Given the description of an element on the screen output the (x, y) to click on. 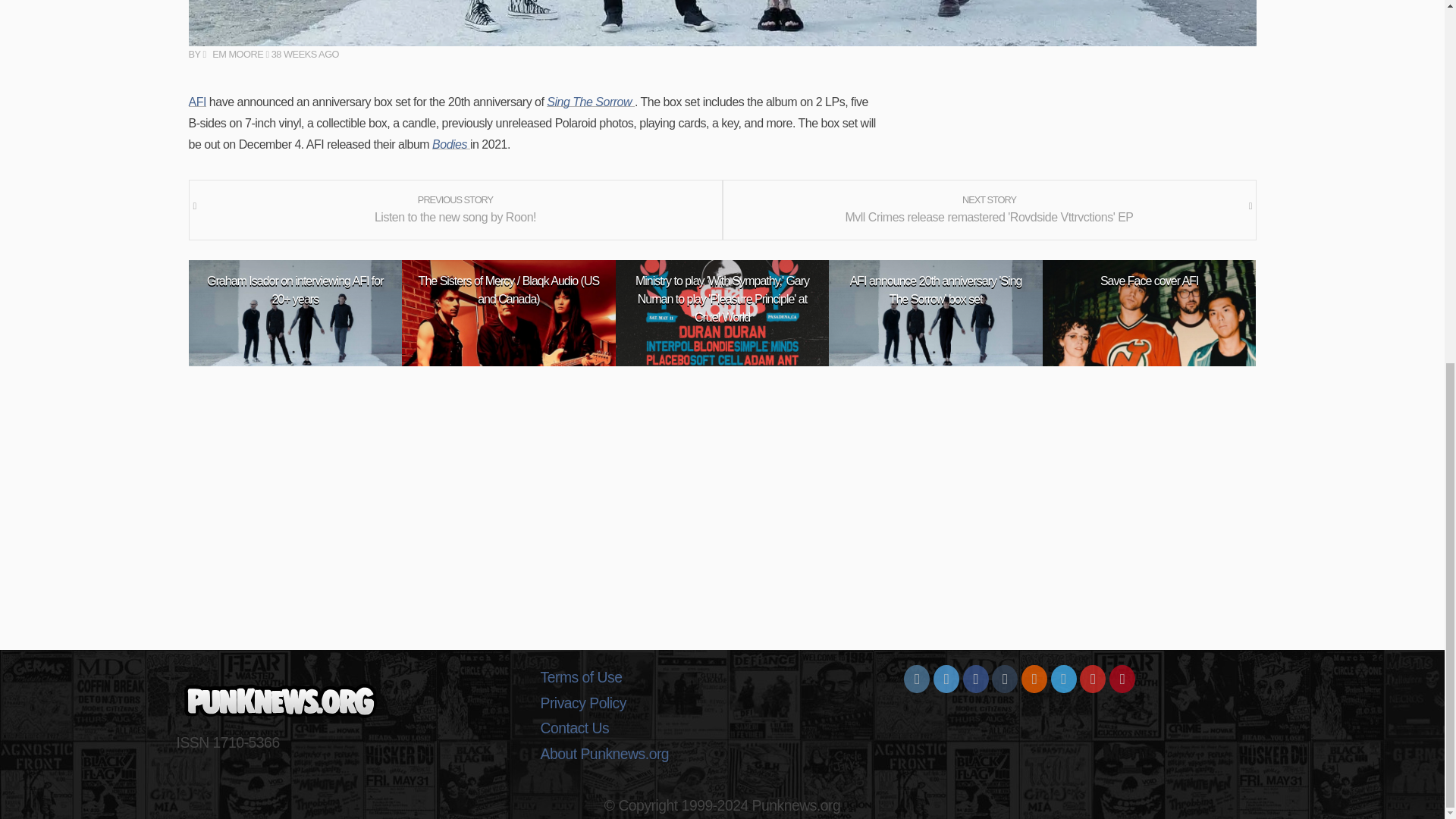
Punknews.org on Facebook (975, 678)
Punknews.org main RSS feed (1034, 678)
Punknews.org on Instagram (917, 678)
AFI (196, 101)
AFI announce 20th anniversary 'Sing The Sorrow' box set (935, 289)
Save Face cover AFI (1149, 280)
Punknews.org on YouTube (1092, 678)
Sing The Sorrow (590, 101)
About Punknews.org (722, 754)
